Given the description of an element on the screen output the (x, y) to click on. 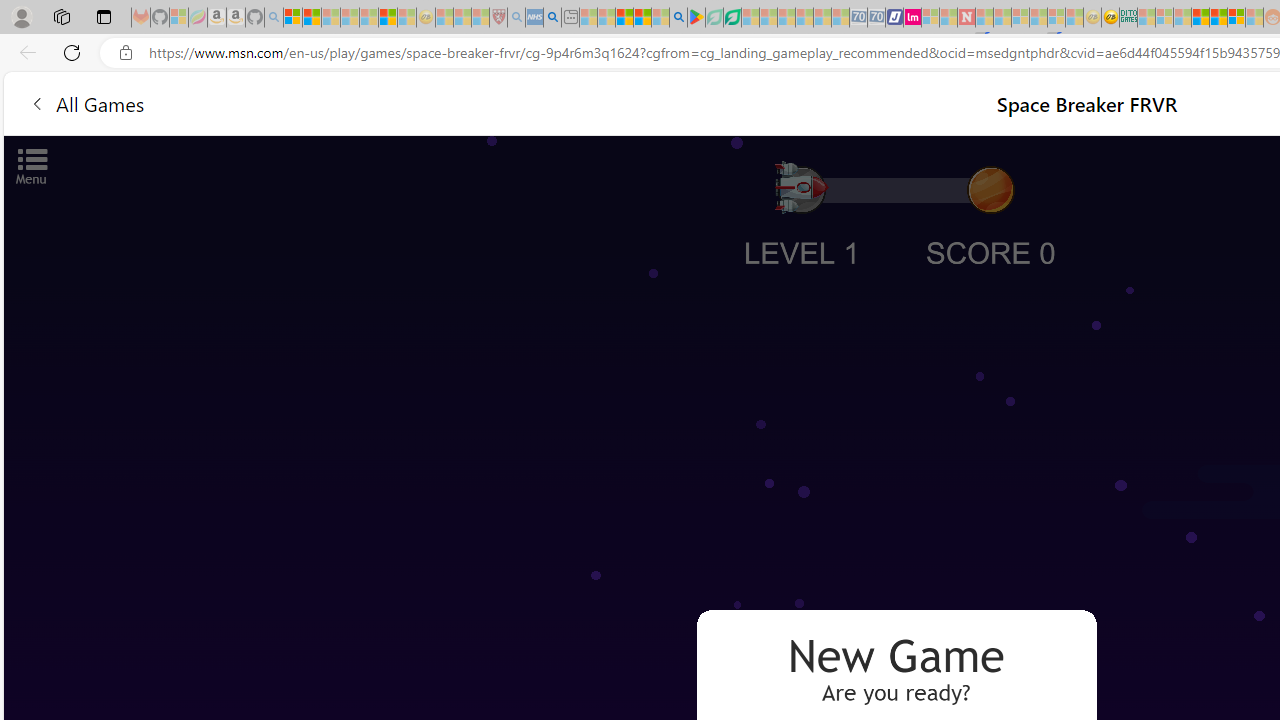
Kinda Frugal - MSN (1218, 17)
All Games (380, 102)
Microsoft account | Privacy - Sleeping (1163, 17)
Trusted Community Engagement and Contributions | Guidelines (984, 17)
New Report Confirms 2023 Was Record Hot | Watch - Sleeping (368, 17)
Bluey: Let's Play! - Apps on Google Play (696, 17)
New tab - Sleeping (569, 17)
Microsoft-Report a Concern to Bing - Sleeping (179, 17)
utah sues federal government - Search (552, 17)
